Given the description of an element on the screen output the (x, y) to click on. 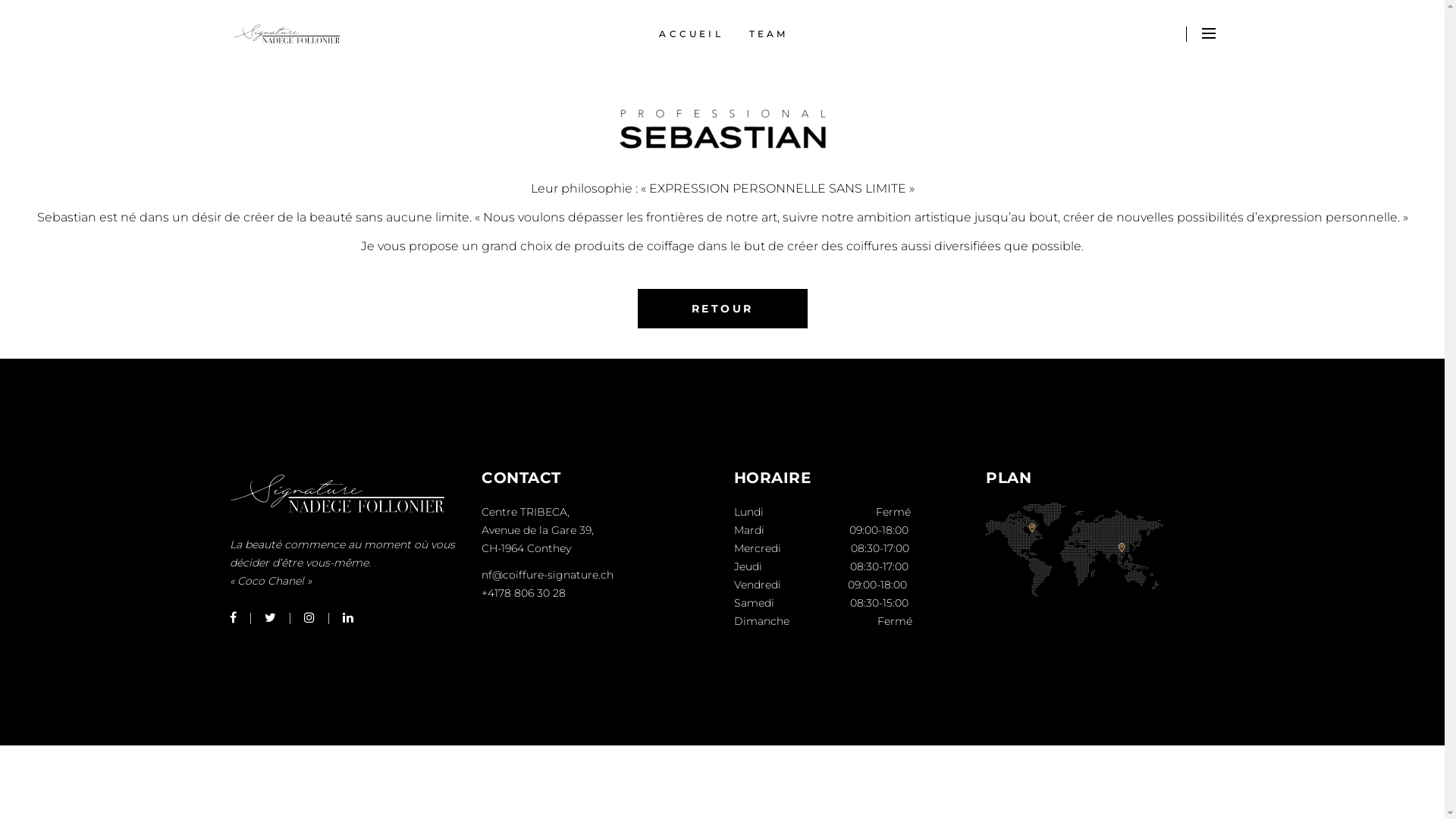
+4178 806 30 28 Element type: text (523, 592)
Maps Element type: hover (1074, 549)
nf@coiffure-signature.ch Element type: text (547, 574)
Centre TRIBECA,
Avenue de la Gare 39,
CH-1964 Conthey Element type: text (537, 530)
ACCUEIL Element type: text (690, 34)
TEAM Element type: text (768, 34)
RETOUR Element type: text (721, 308)
